Given the description of an element on the screen output the (x, y) to click on. 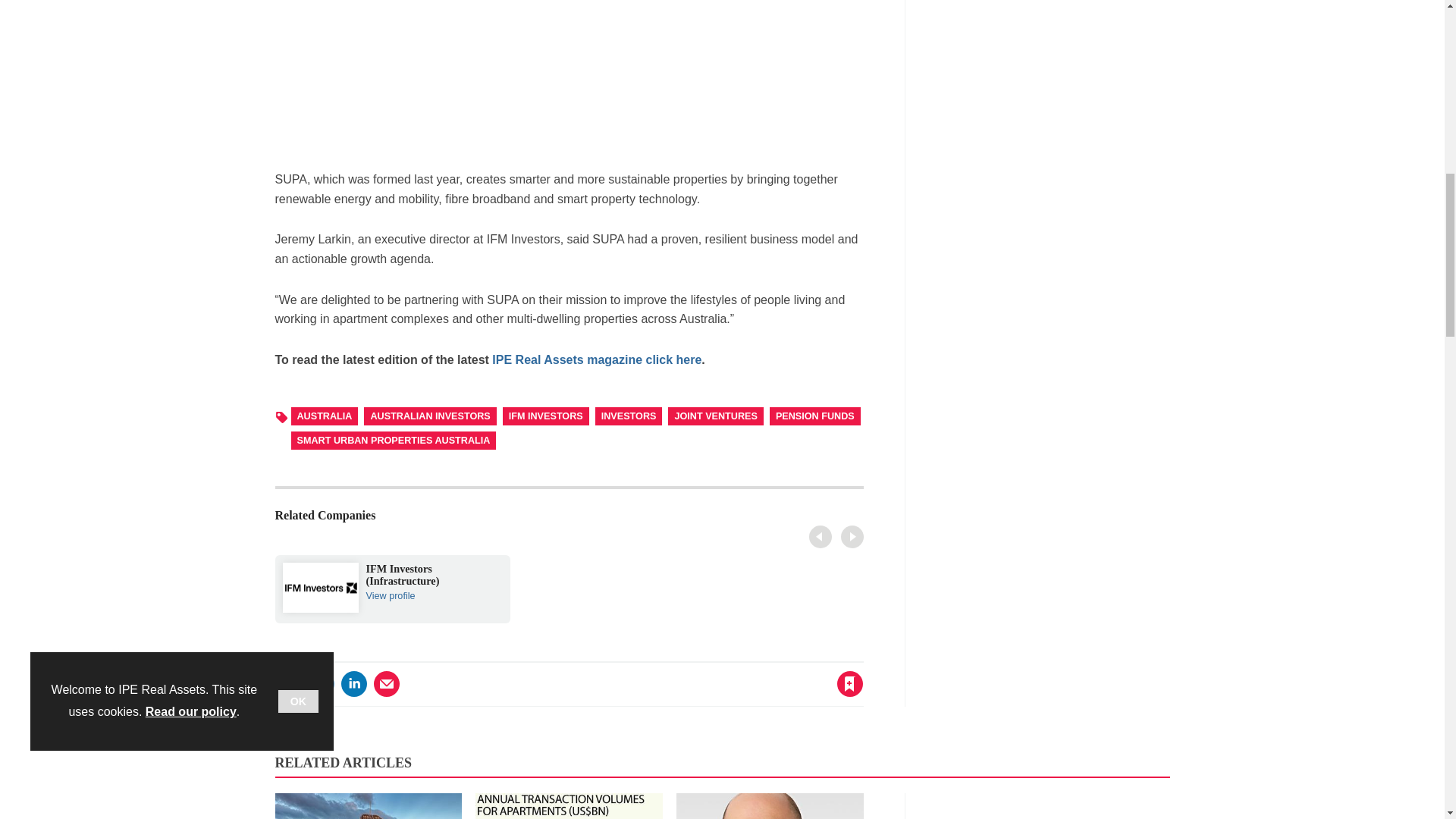
3rd party ad content (1055, 54)
Share this on Twitter (320, 683)
Email this article (386, 683)
Share this on Linked in (352, 683)
3rd party ad content (568, 77)
Share this on Facebook (288, 683)
